Given the description of an element on the screen output the (x, y) to click on. 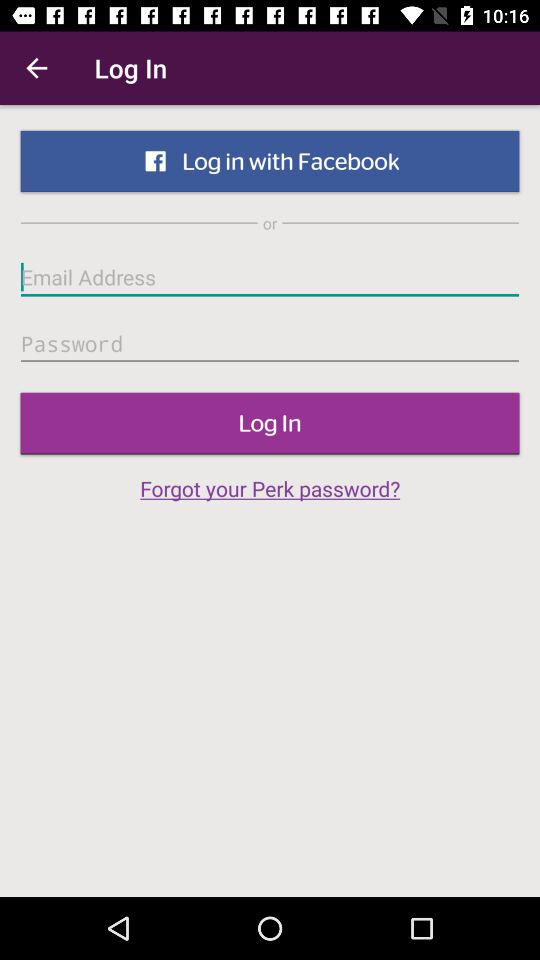
password (269, 344)
